Given the description of an element on the screen output the (x, y) to click on. 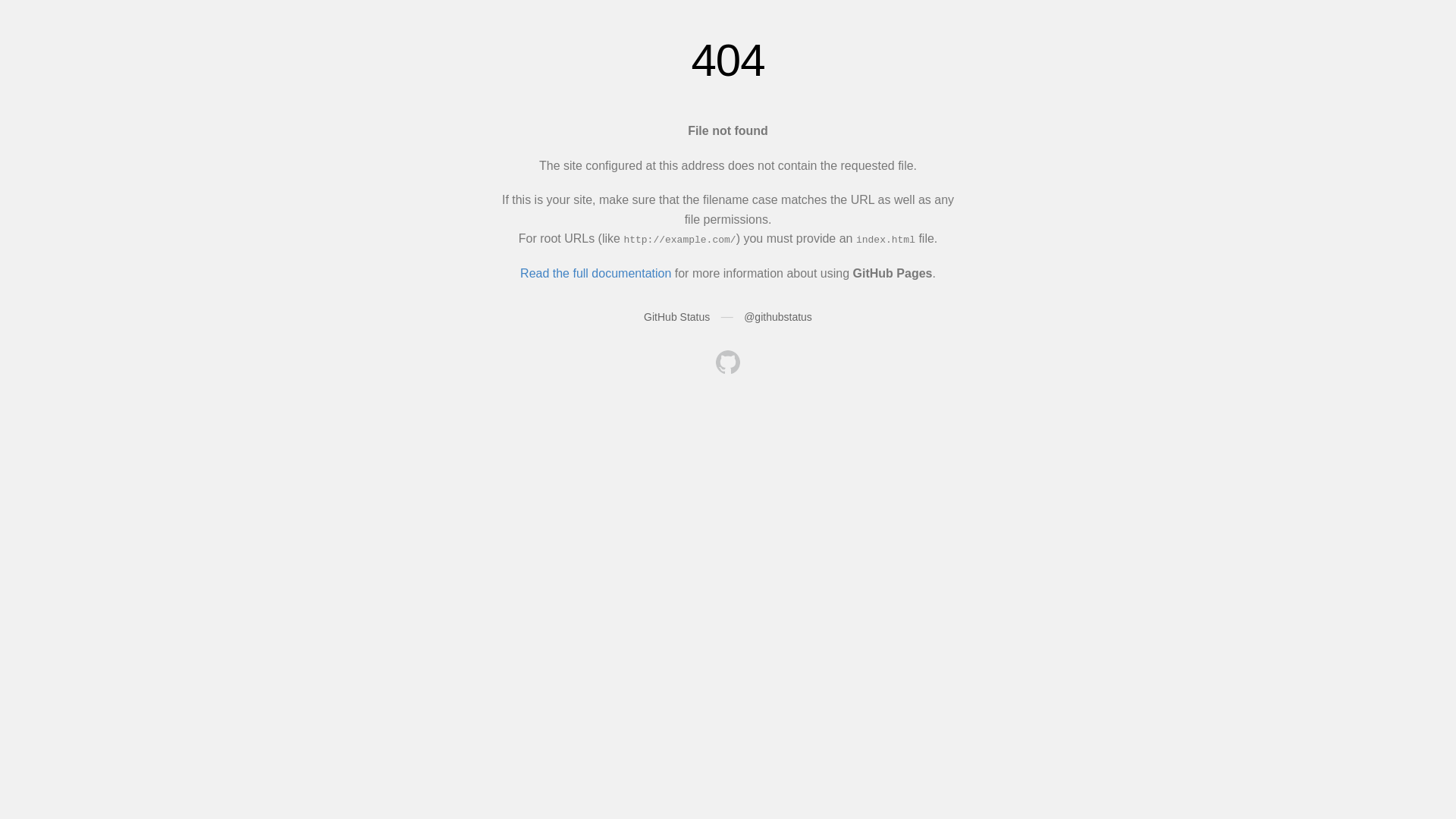
Read the full documentation Element type: text (595, 272)
GitHub Status Element type: text (676, 316)
@githubstatus Element type: text (777, 316)
